Given the description of an element on the screen output the (x, y) to click on. 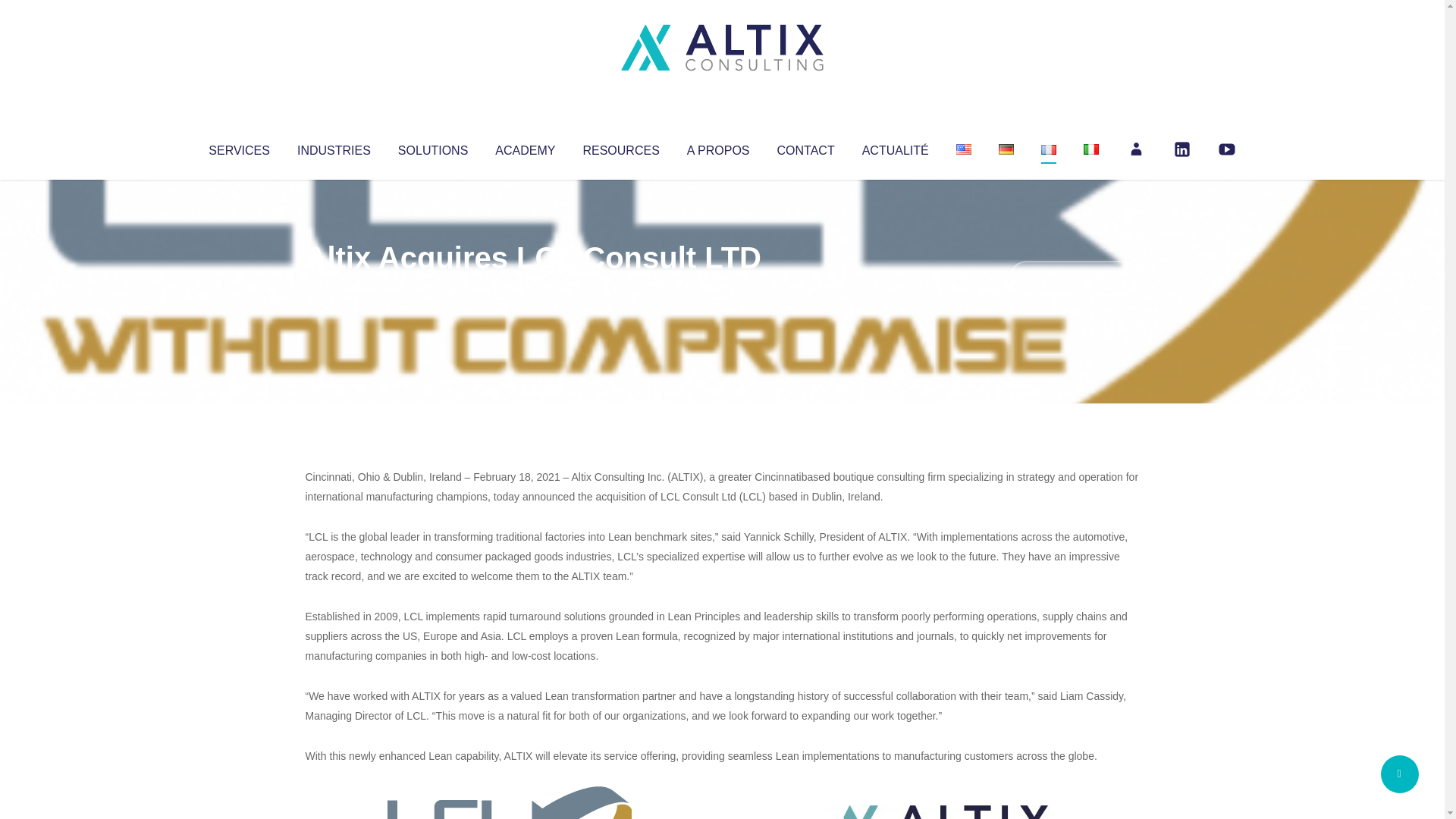
Articles par Altix (333, 287)
Altix (333, 287)
SERVICES (238, 146)
SOLUTIONS (432, 146)
A PROPOS (718, 146)
ACADEMY (524, 146)
RESOURCES (620, 146)
No Comments (1073, 278)
Uncategorized (530, 287)
INDUSTRIES (334, 146)
